Given the description of an element on the screen output the (x, y) to click on. 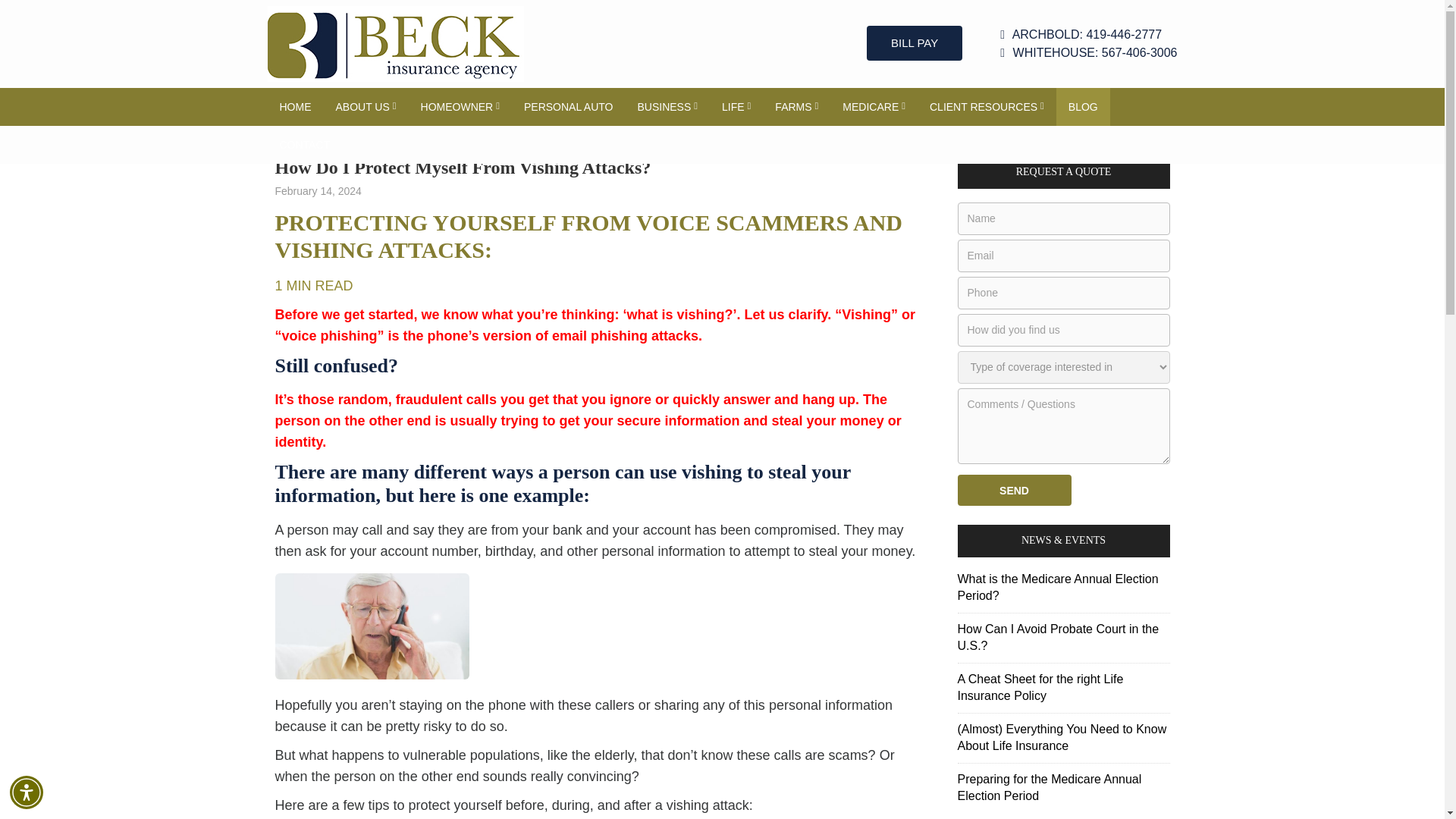
BLOG (1083, 106)
Send (1013, 490)
CLIENT RESOURCES (987, 106)
LIFE (736, 106)
ARCHBOLD: 419-446-2777 (1088, 34)
BUSINESS (667, 106)
PERSONAL AUTO (568, 106)
WHITEHOUSE: 567-406-3006 (1088, 53)
FARMS (795, 106)
Send (1013, 490)
HOMEOWNER (460, 106)
ABOUT US (365, 106)
Accessibility Menu (26, 792)
CONTACT (304, 144)
1 MIN READ (313, 285)
